Given the description of an element on the screen output the (x, y) to click on. 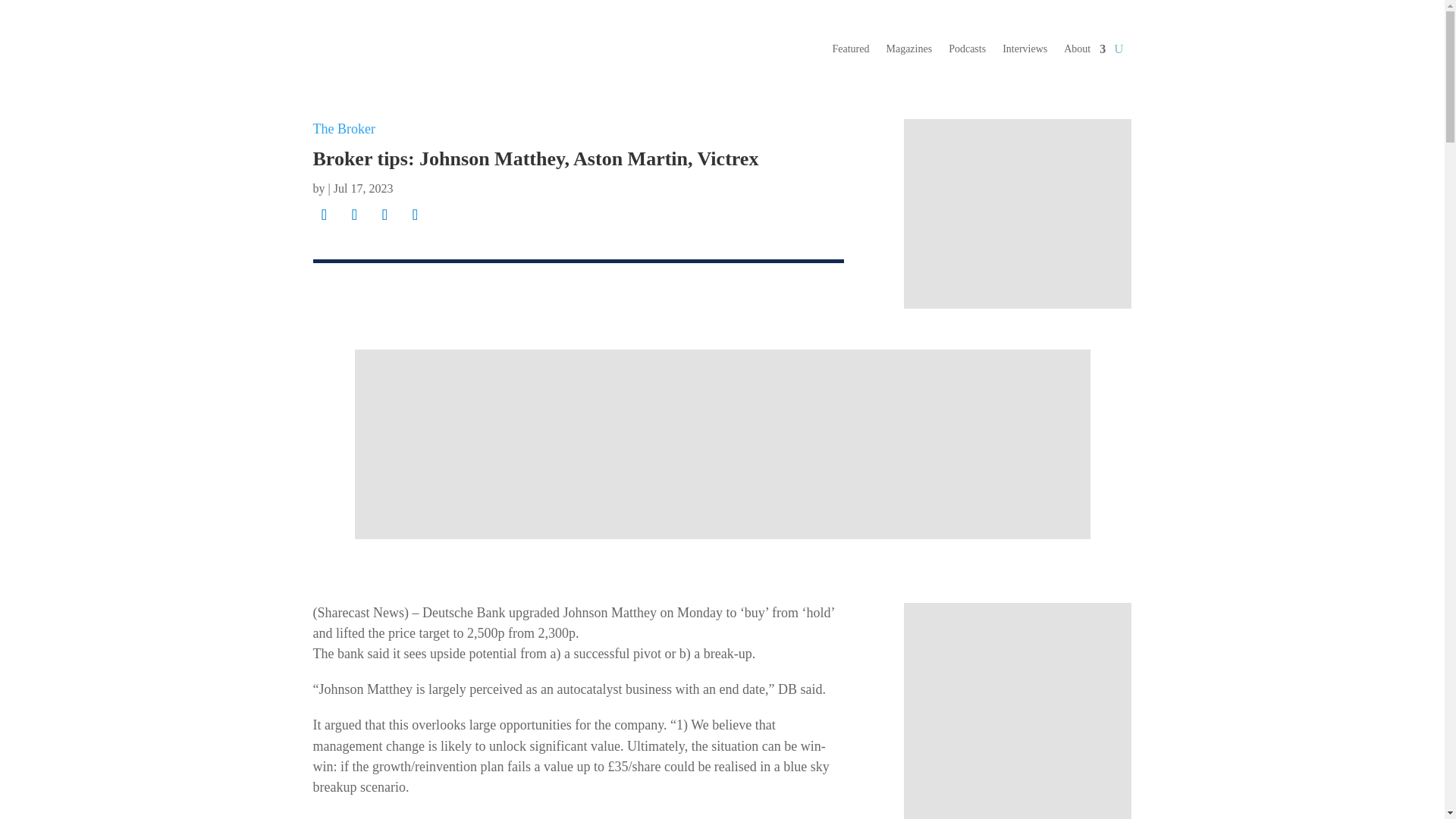
The Broker (343, 128)
